Given the description of an element on the screen output the (x, y) to click on. 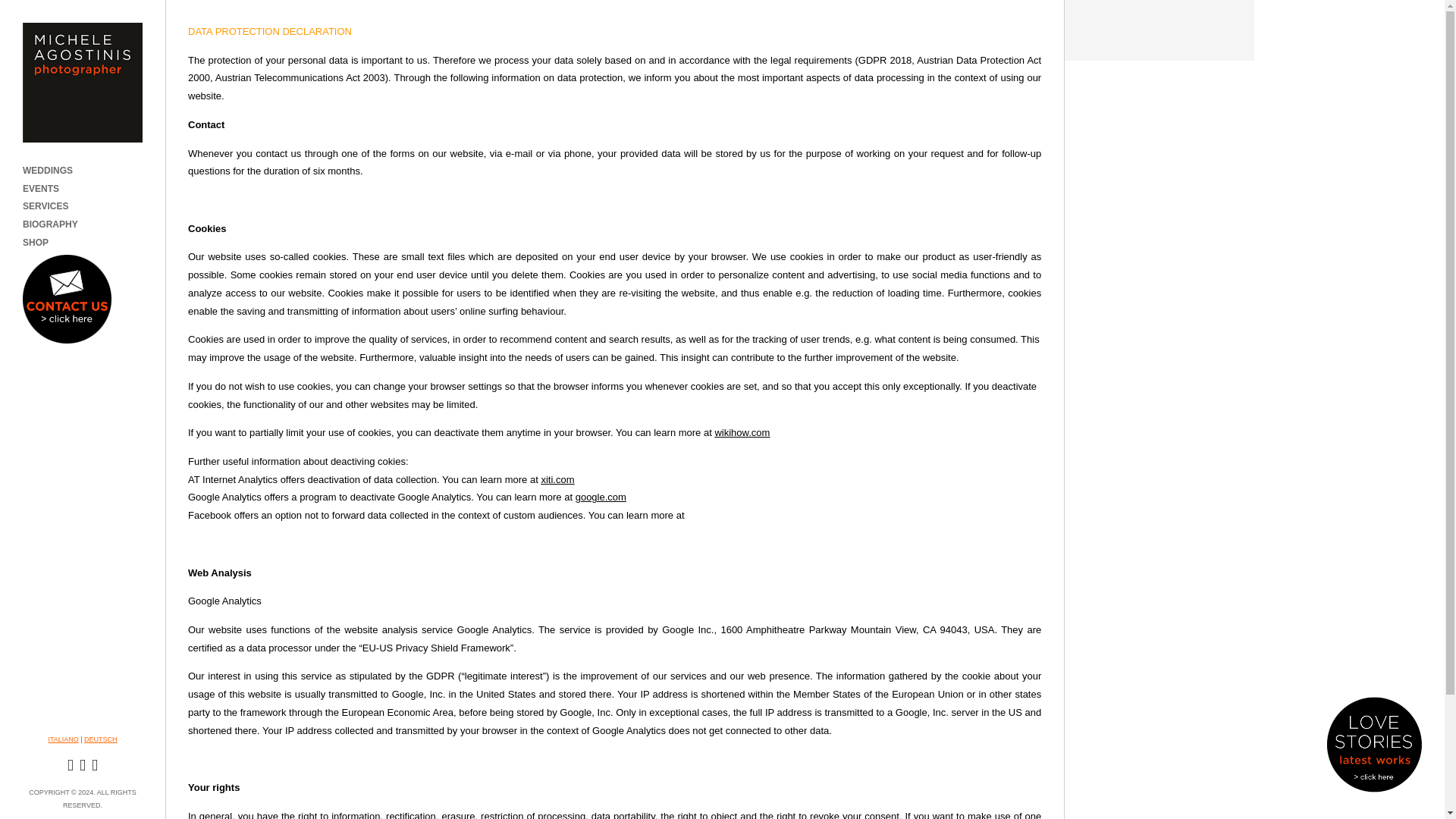
SHOP (35, 243)
wikihow.com (742, 432)
EVENTS (41, 189)
DEUTSCH (100, 738)
SERVICES (45, 206)
WEDDINGS (47, 171)
ITALIANO (63, 738)
google.com (600, 496)
Fotografo Venezia Michele Agostinis (63, 738)
BIOGRAPHY (50, 224)
